Given the description of an element on the screen output the (x, y) to click on. 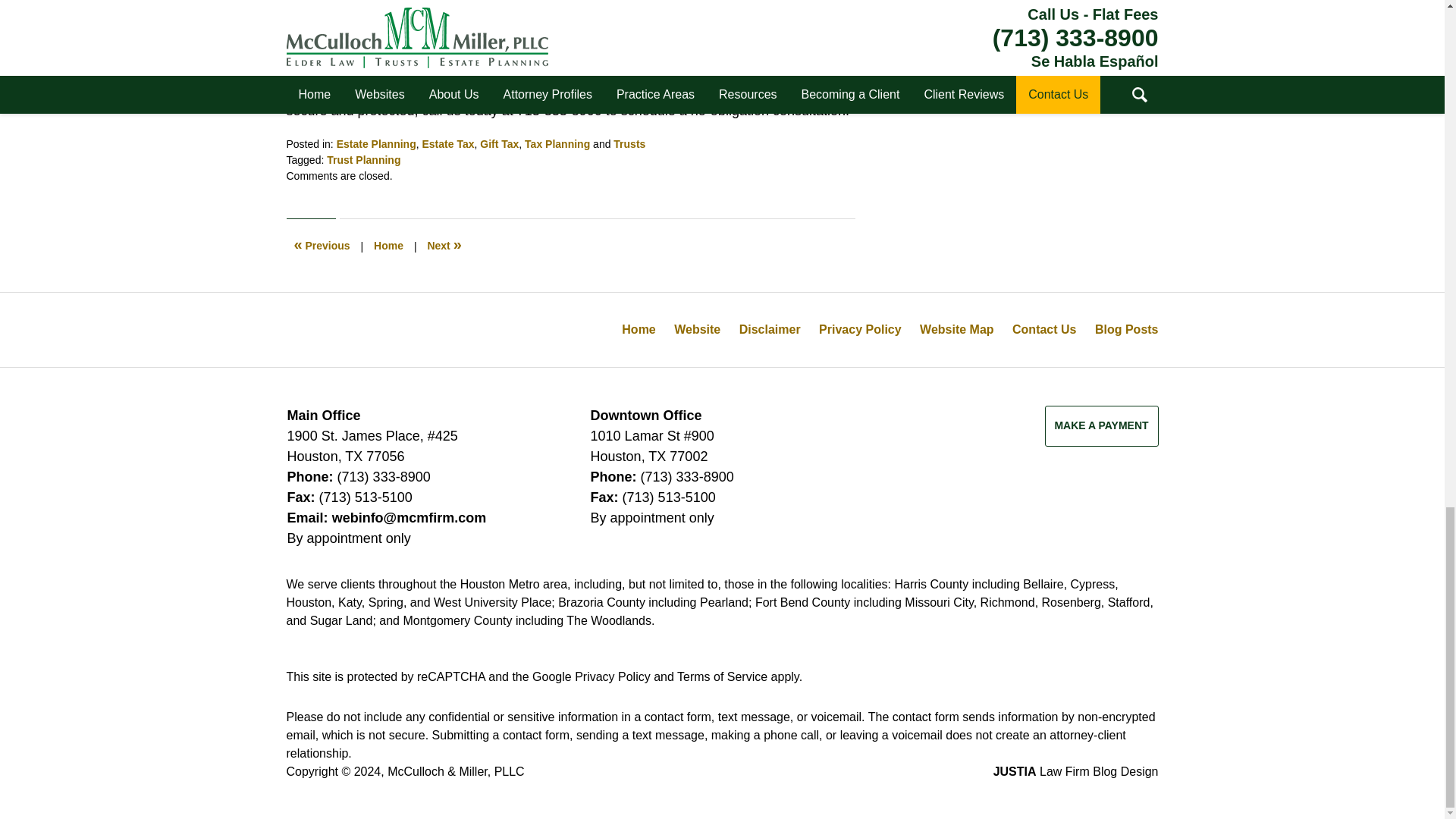
Home (388, 246)
View all posts in Trusts (628, 143)
Estate Tax (448, 143)
Gift Tax (499, 143)
View all posts in Estate Planning (376, 143)
View all posts in Gift Tax (499, 143)
Tax Planning (556, 143)
View all posts in Estate Tax (448, 143)
Trusts (628, 143)
Estate Planning (376, 143)
